Given the description of an element on the screen output the (x, y) to click on. 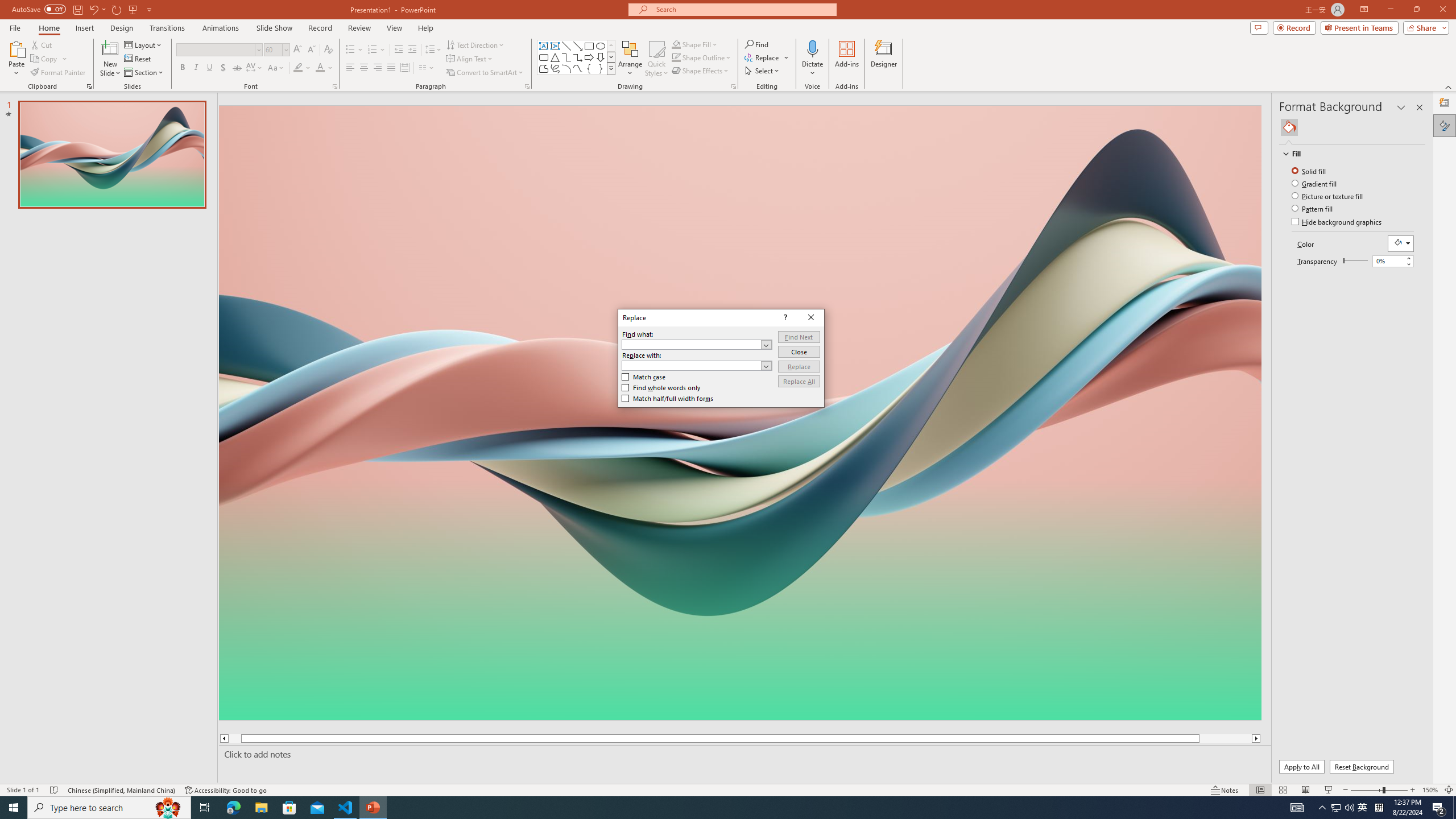
Gradient fill (1315, 183)
